Given the description of an element on the screen output the (x, y) to click on. 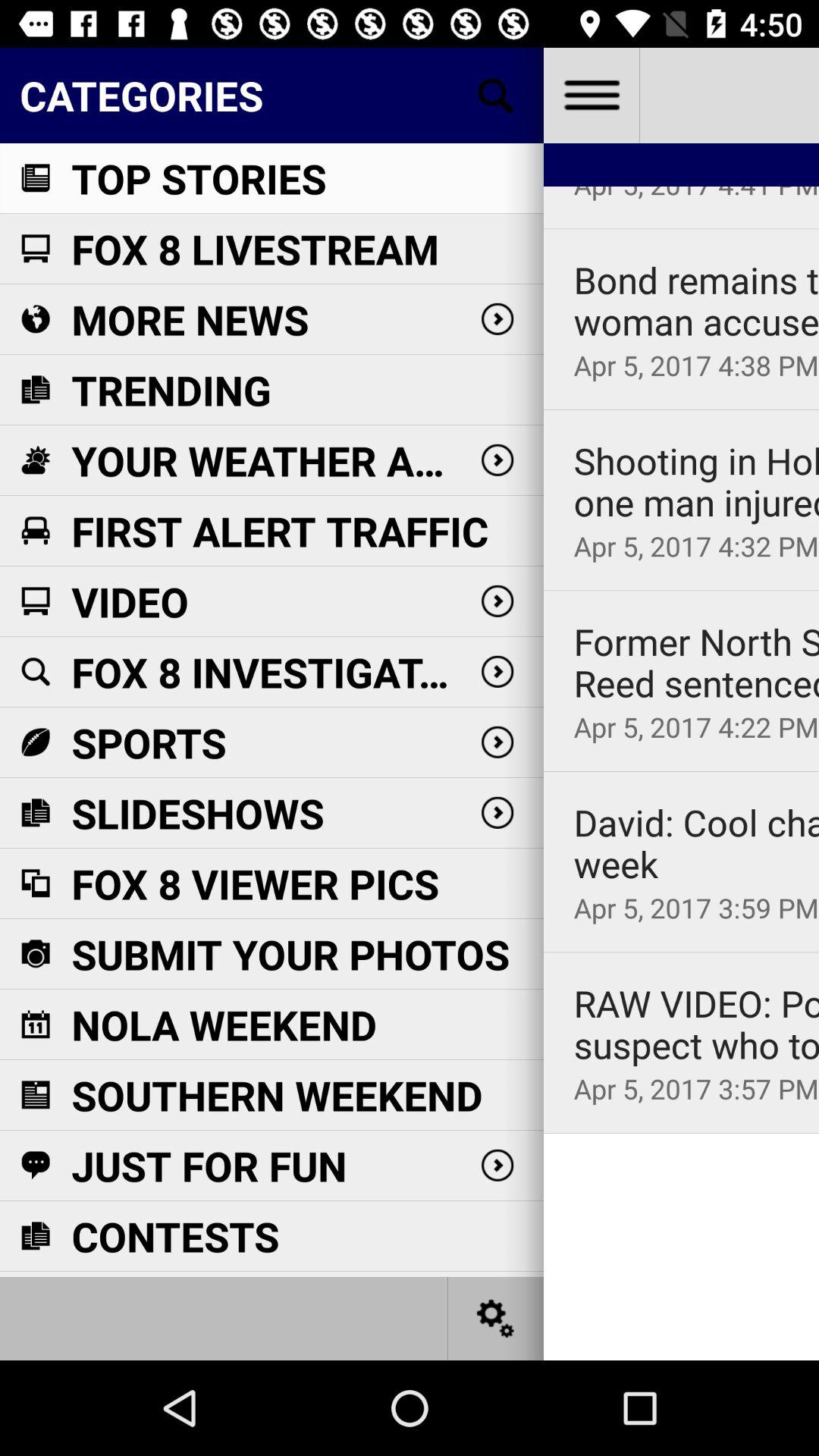
settings button (495, 1318)
